Given the description of an element on the screen output the (x, y) to click on. 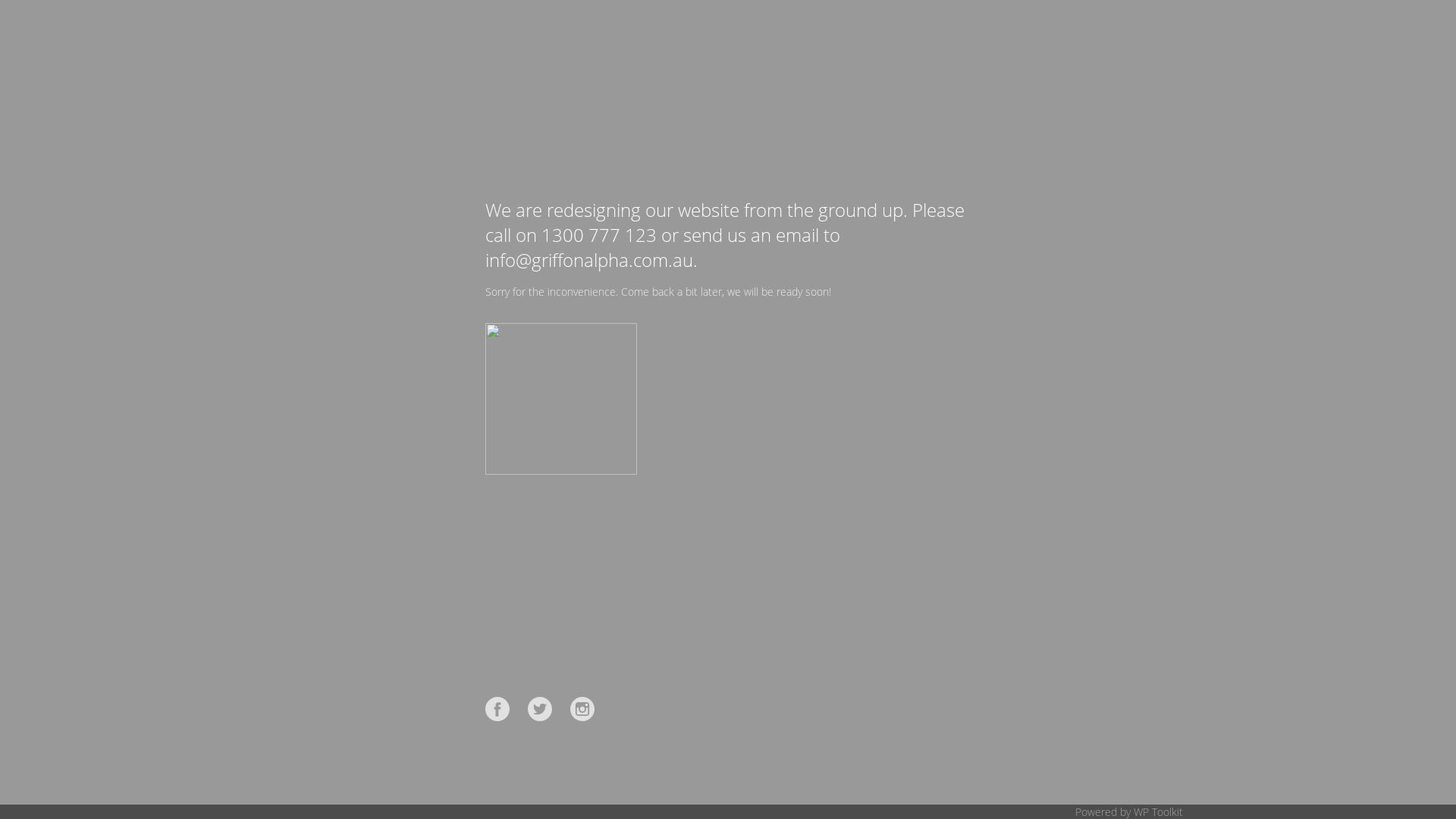
Facebook Element type: hover (497, 708)
Twitter Element type: hover (539, 708)
Instagram Element type: hover (582, 708)
